Given the description of an element on the screen output the (x, y) to click on. 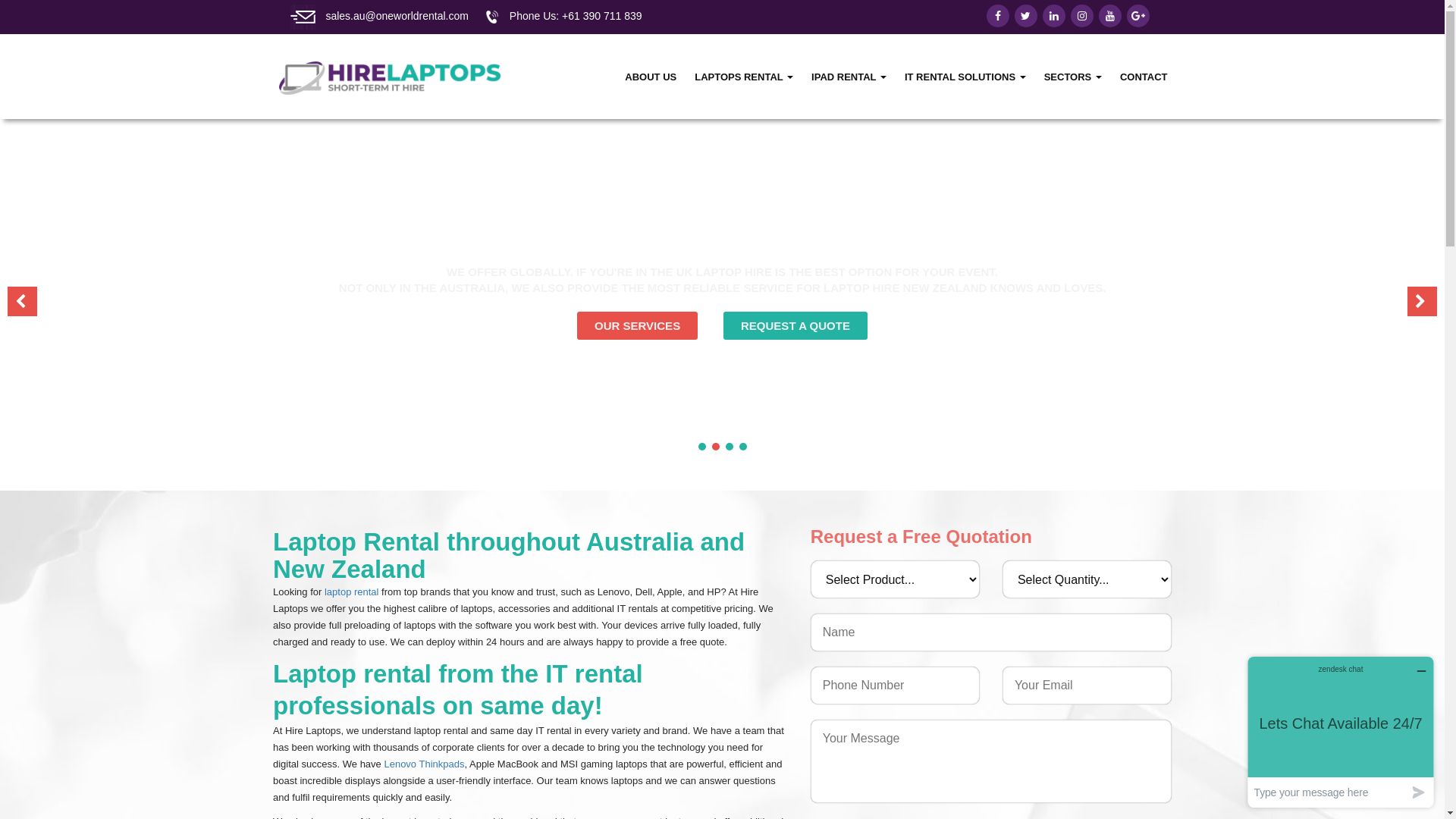
Lenovo Thinkpads Element type: text (423, 763)
ABOUT US Element type: text (650, 77)
Phone Us: +61 390 711 839 Element type: text (575, 15)
laptop rental Element type: text (351, 591)
Please enter valid email address Element type: hover (1086, 685)
SECTORS Element type: text (1072, 77)
IPAD RENTAL Element type: text (848, 77)
LAPTOPS RENTAL Element type: text (743, 77)
Opens a widget where you can chat to one of our agents Element type: hover (1340, 731)
CONTACT Element type: text (1143, 77)
sales.au@oneworldrental.com Element type: text (396, 15)
REQUEST A QUOTE Element type: text (795, 325)
IT RENTAL SOLUTIONS Element type: text (965, 77)
John Fitzgerald Kennedy or John F. Kennedy Element type: hover (990, 632)
OUR SERVICES Element type: text (637, 325)
